Given the description of an element on the screen output the (x, y) to click on. 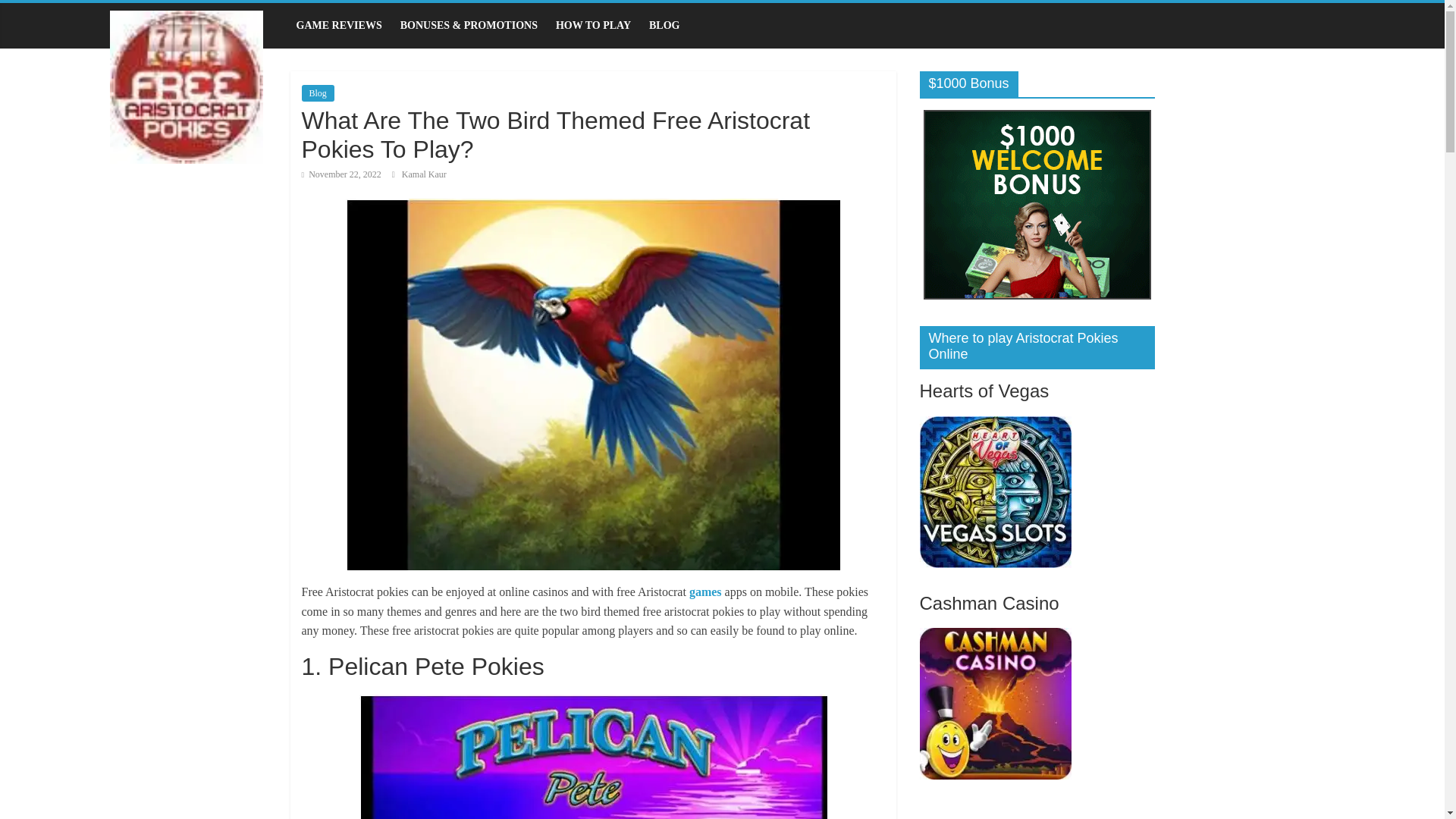
BLOG (664, 25)
games (706, 591)
GAME REVIEWS (338, 25)
Kamal Kaur (423, 173)
Blog (317, 93)
9:25 am (341, 173)
HOW TO PLAY (593, 25)
Kamal Kaur (423, 173)
November 22, 2022 (341, 173)
